Given the description of an element on the screen output the (x, y) to click on. 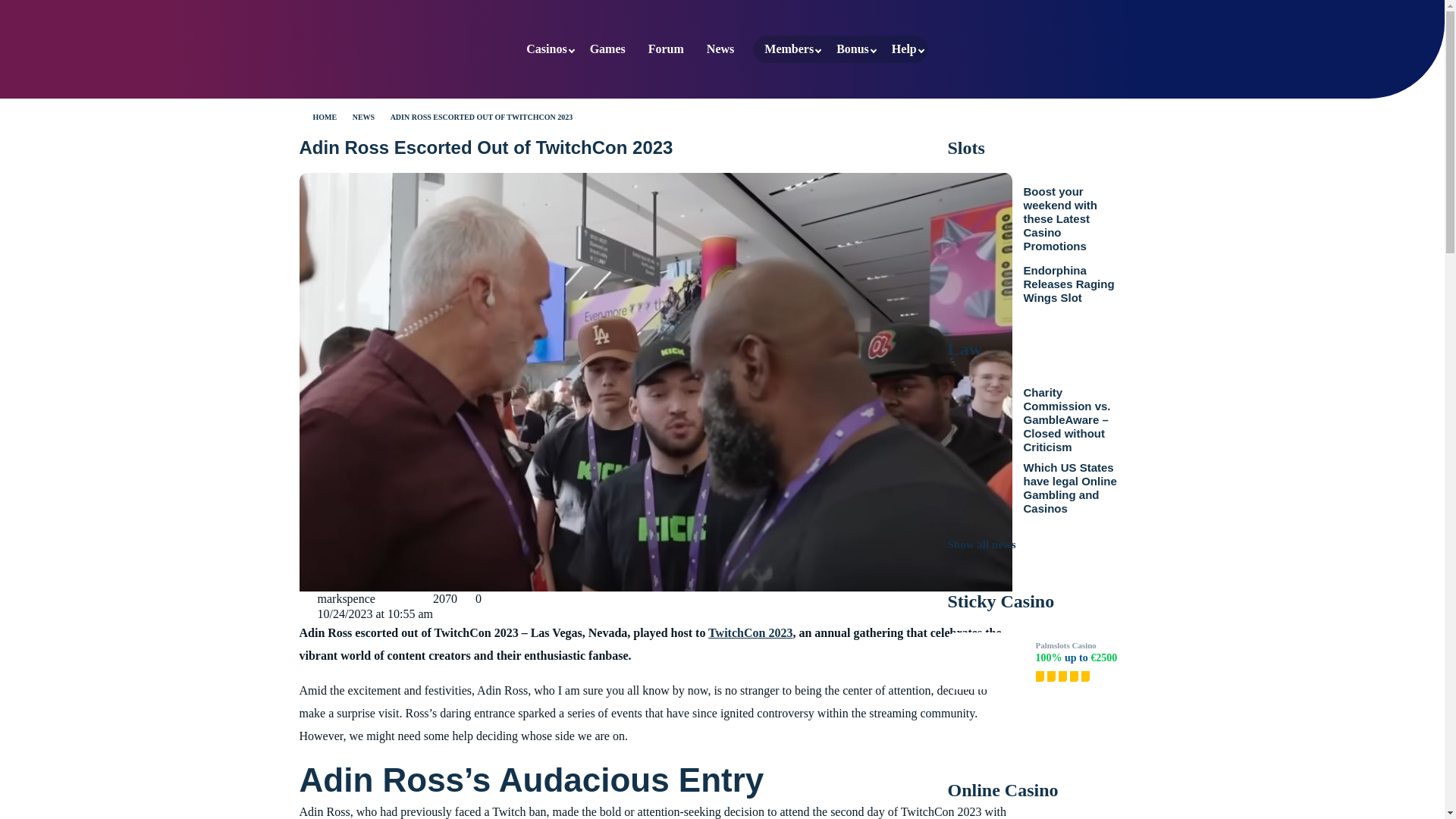
Help (904, 48)
Bonus (852, 48)
Games (607, 48)
Members (788, 48)
Forum (665, 48)
News (719, 48)
Casinos (545, 48)
